Given the description of an element on the screen output the (x, y) to click on. 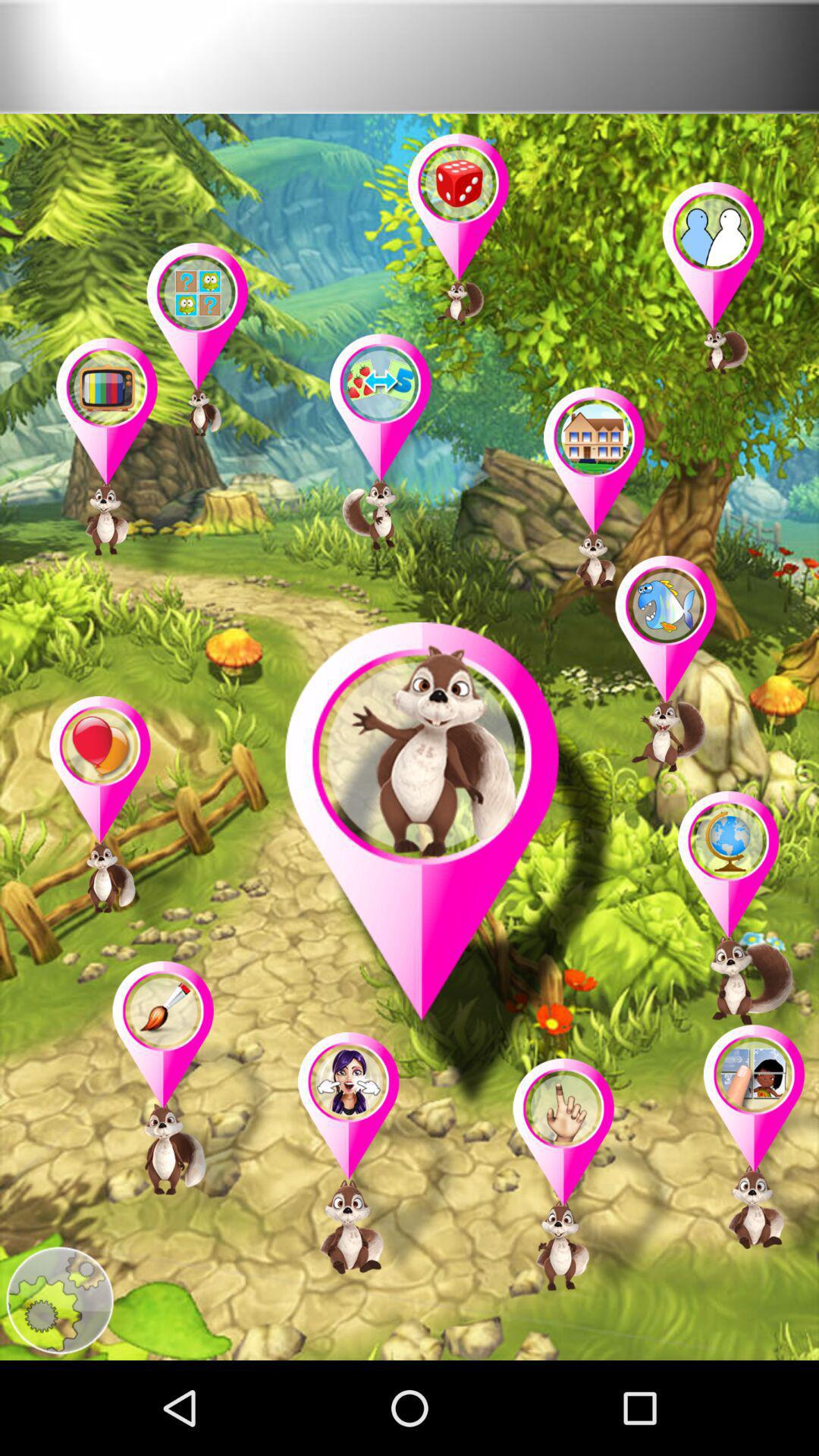
select game (753, 1149)
